Given the description of an element on the screen output the (x, y) to click on. 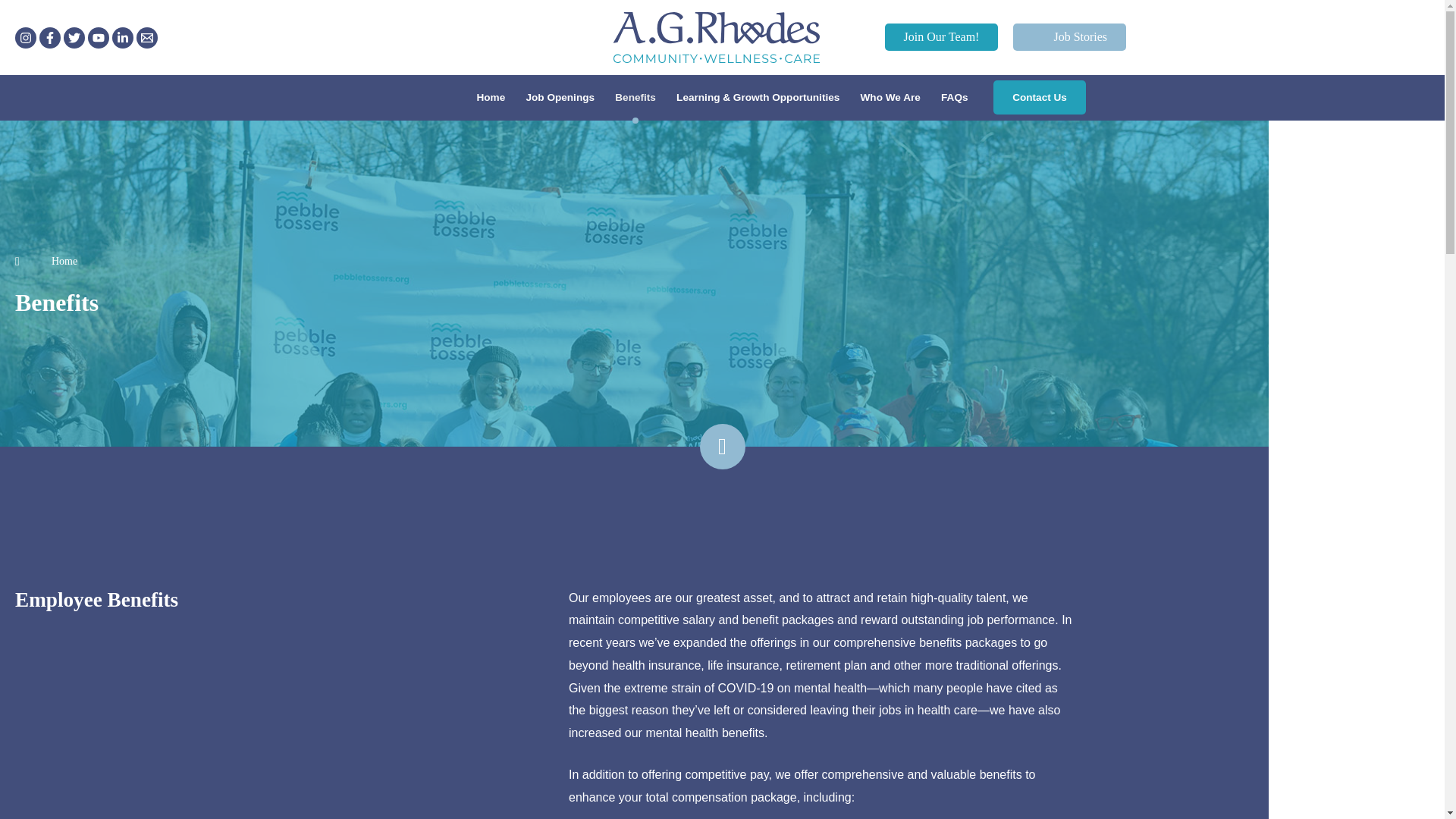
Job Openings (560, 97)
Home (45, 261)
Contact Us (1039, 97)
Home (45, 261)
Home (490, 97)
Job Stories (1069, 36)
Benefits (635, 97)
FAQs (954, 97)
Who We Are (890, 97)
Join Our Team! (921, 36)
